Given the description of an element on the screen output the (x, y) to click on. 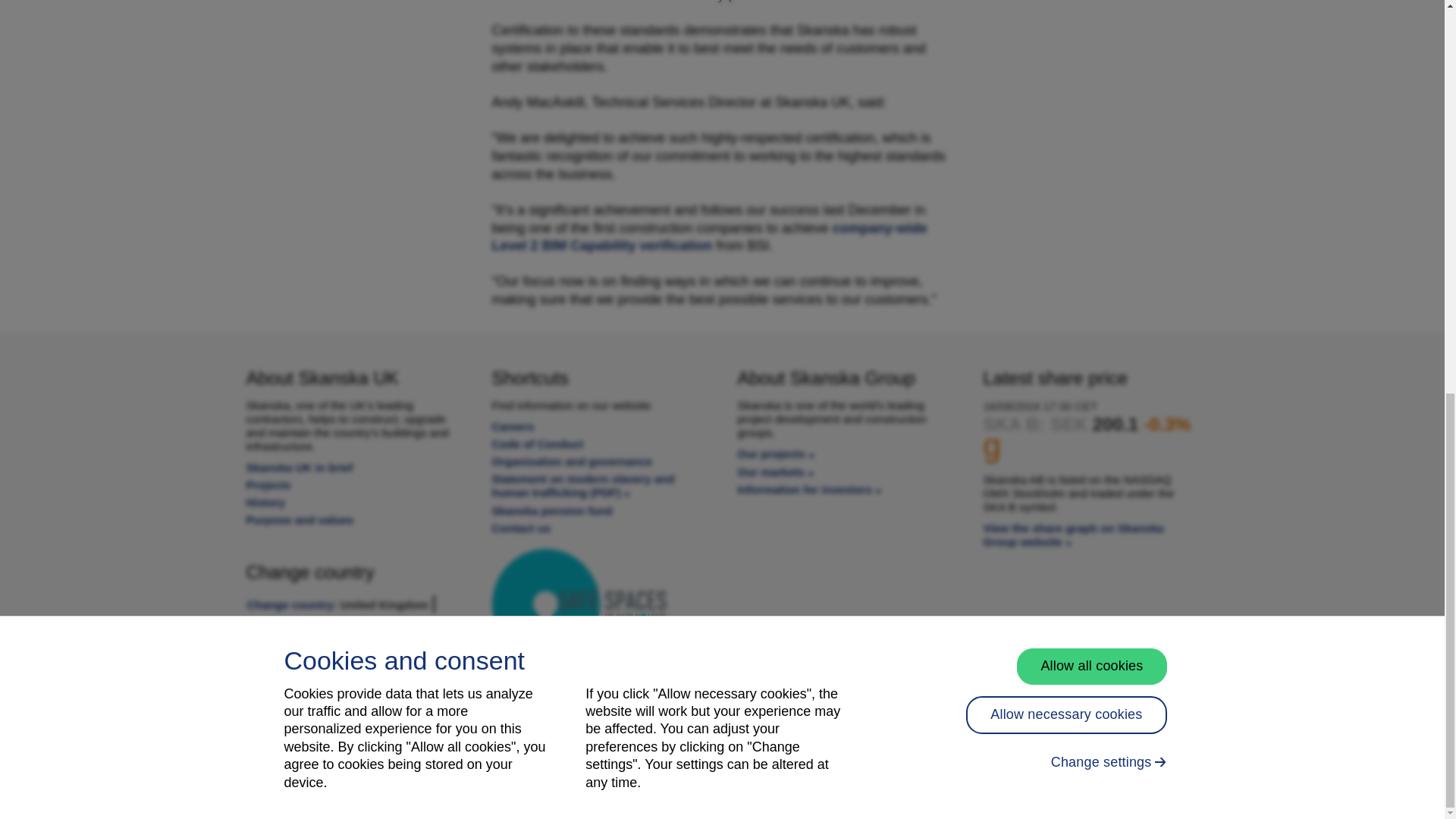
Latest share price (1072, 534)
Back to top (1366, 93)
Change country (353, 604)
